Given the description of an element on the screen output the (x, y) to click on. 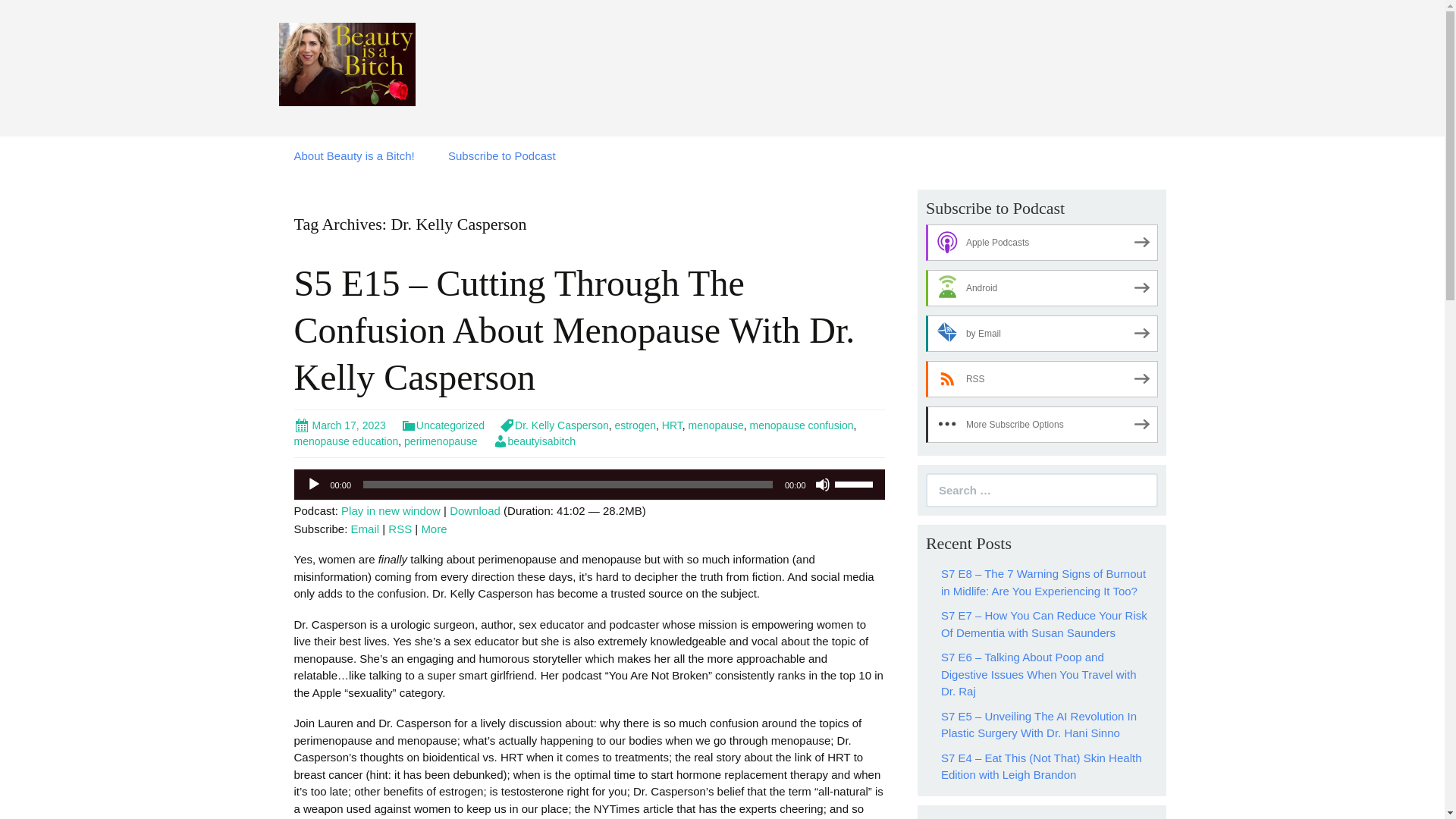
Play in new window (390, 510)
Subscribe on Apple Podcasts (1041, 242)
Android (1041, 288)
More (433, 528)
Download (474, 510)
March 17, 2023 (339, 425)
Play (313, 484)
Subscribe on Android (1041, 288)
menopause (716, 425)
